Given the description of an element on the screen output the (x, y) to click on. 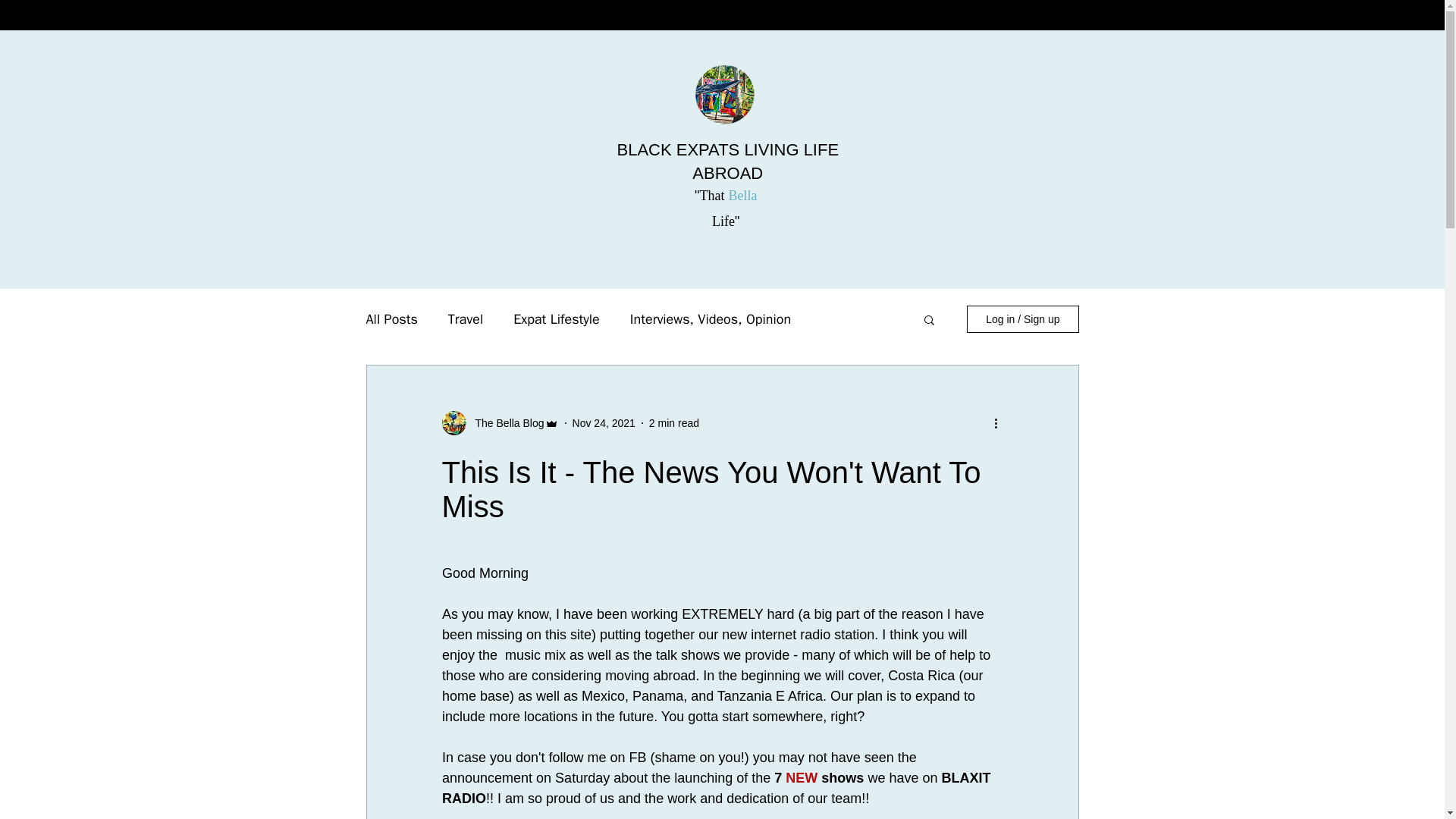
2 min read (673, 422)
Nov 24, 2021 (603, 422)
Interviews, Videos, Opinion (710, 319)
All Posts (390, 319)
The Bella Blog (504, 423)
BLACK EXPATS LIVING LIFE ABROAD (726, 161)
Travel (465, 319)
Expat Lifestyle (556, 319)
